Given the description of an element on the screen output the (x, y) to click on. 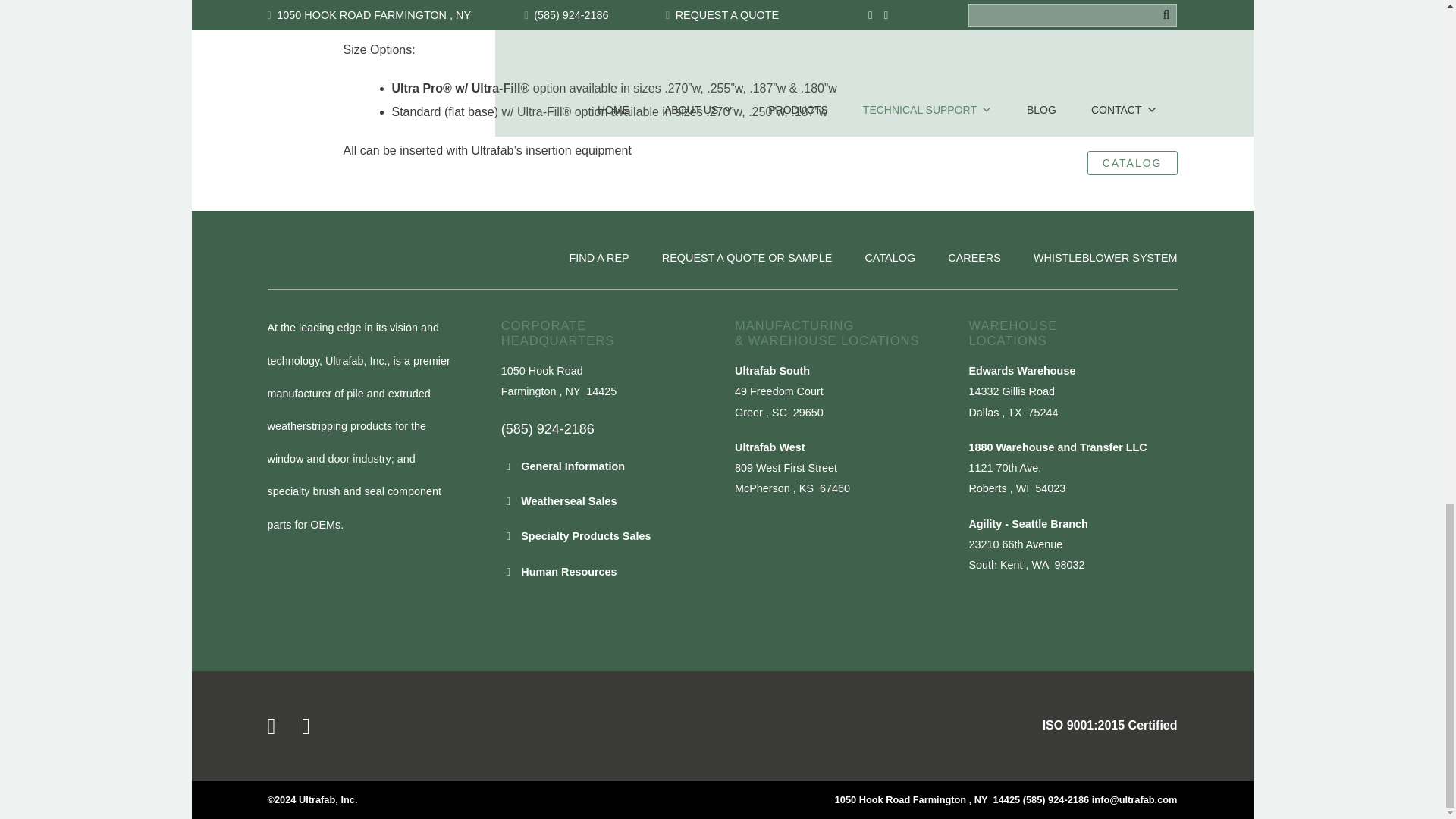
CAREERS (974, 257)
FIND A REP (598, 257)
CATALOG (889, 257)
Weatherseal Sales (568, 500)
General Information (572, 466)
REQUEST A QUOTE OR SAMPLE (746, 257)
Specialty Products Sales (585, 535)
